Given the description of an element on the screen output the (x, y) to click on. 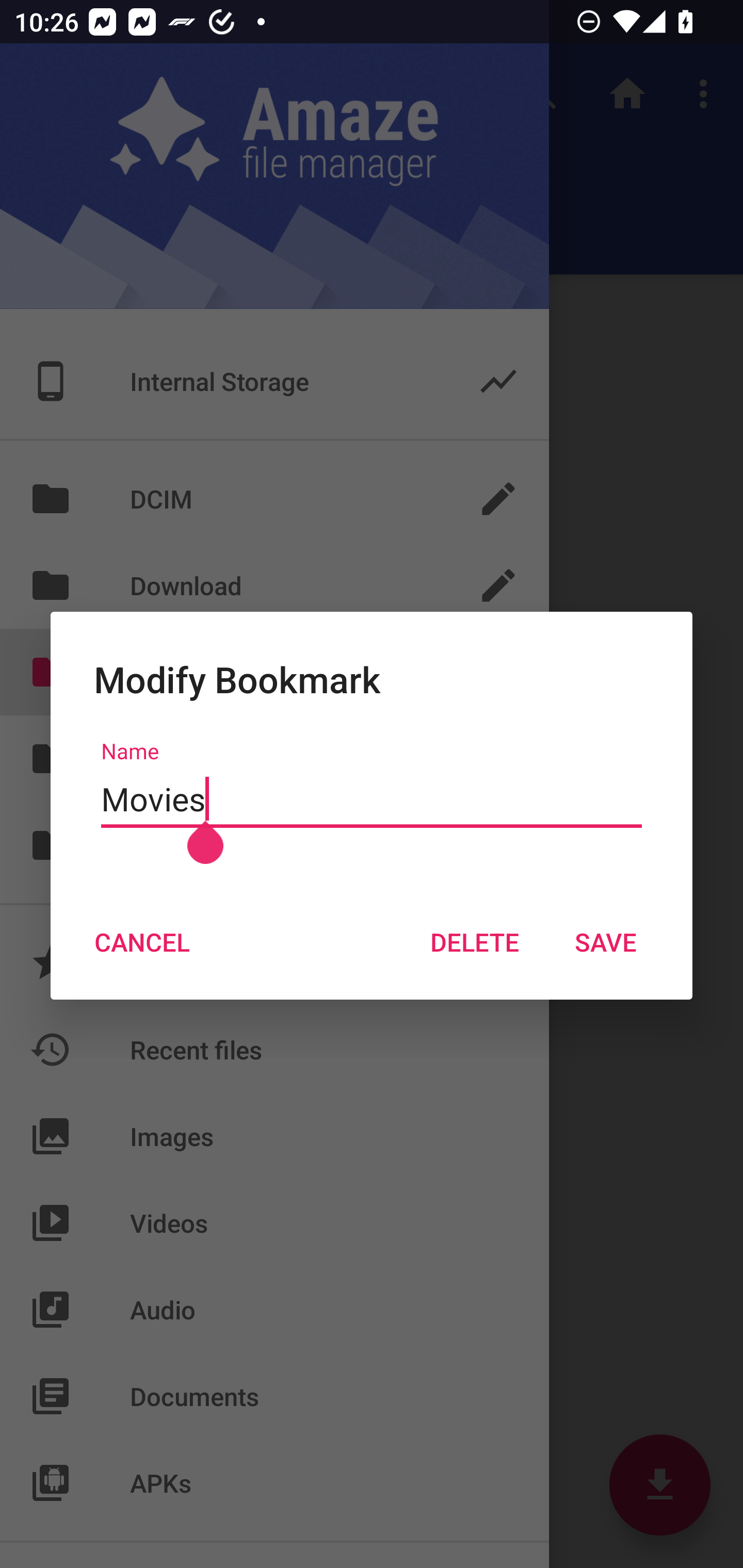
Movies (371, 799)
CANCEL (141, 941)
DELETE (473, 941)
SAVE (605, 941)
